Given the description of an element on the screen output the (x, y) to click on. 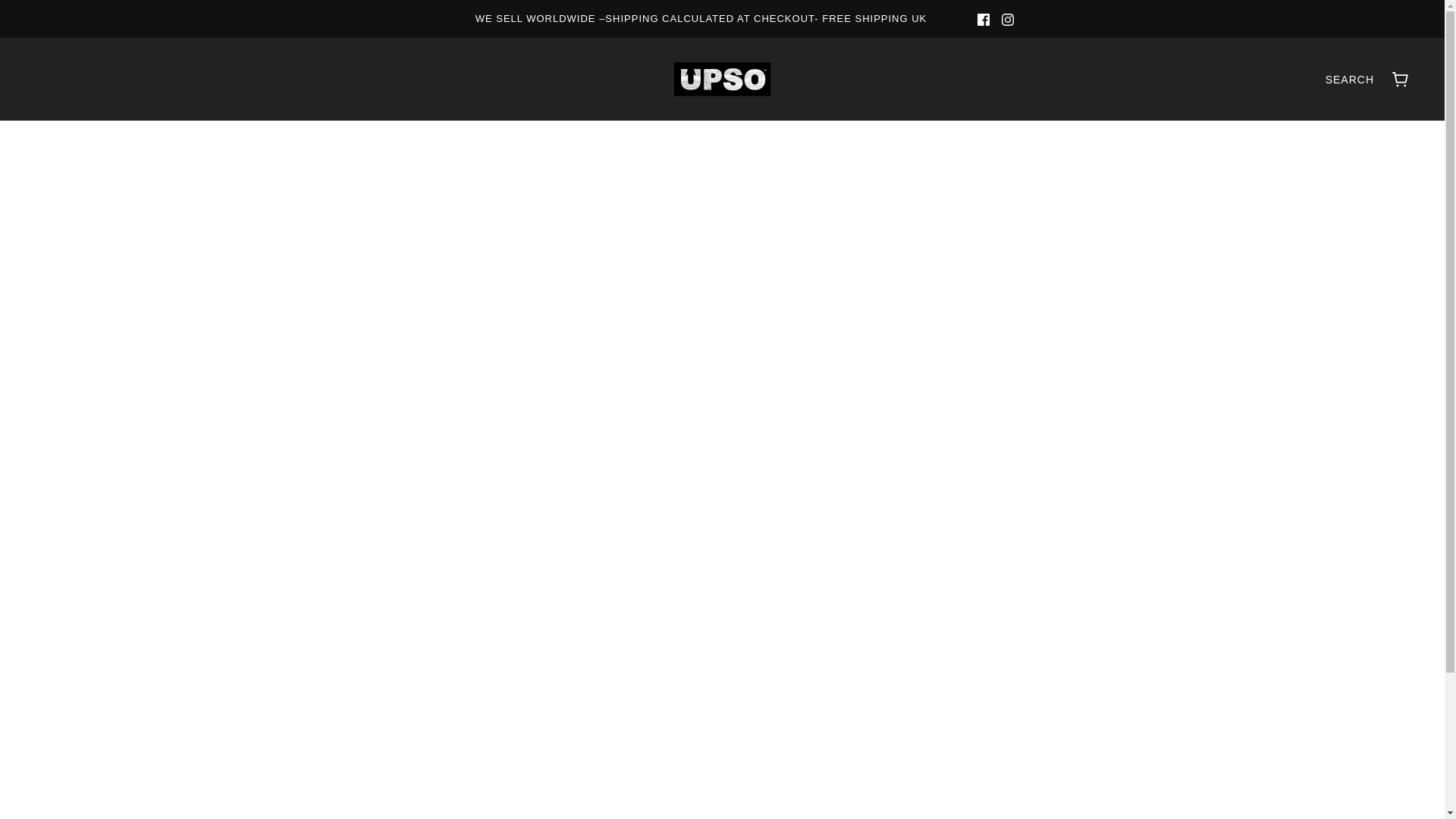
UPSO (721, 79)
